Given the description of an element on the screen output the (x, y) to click on. 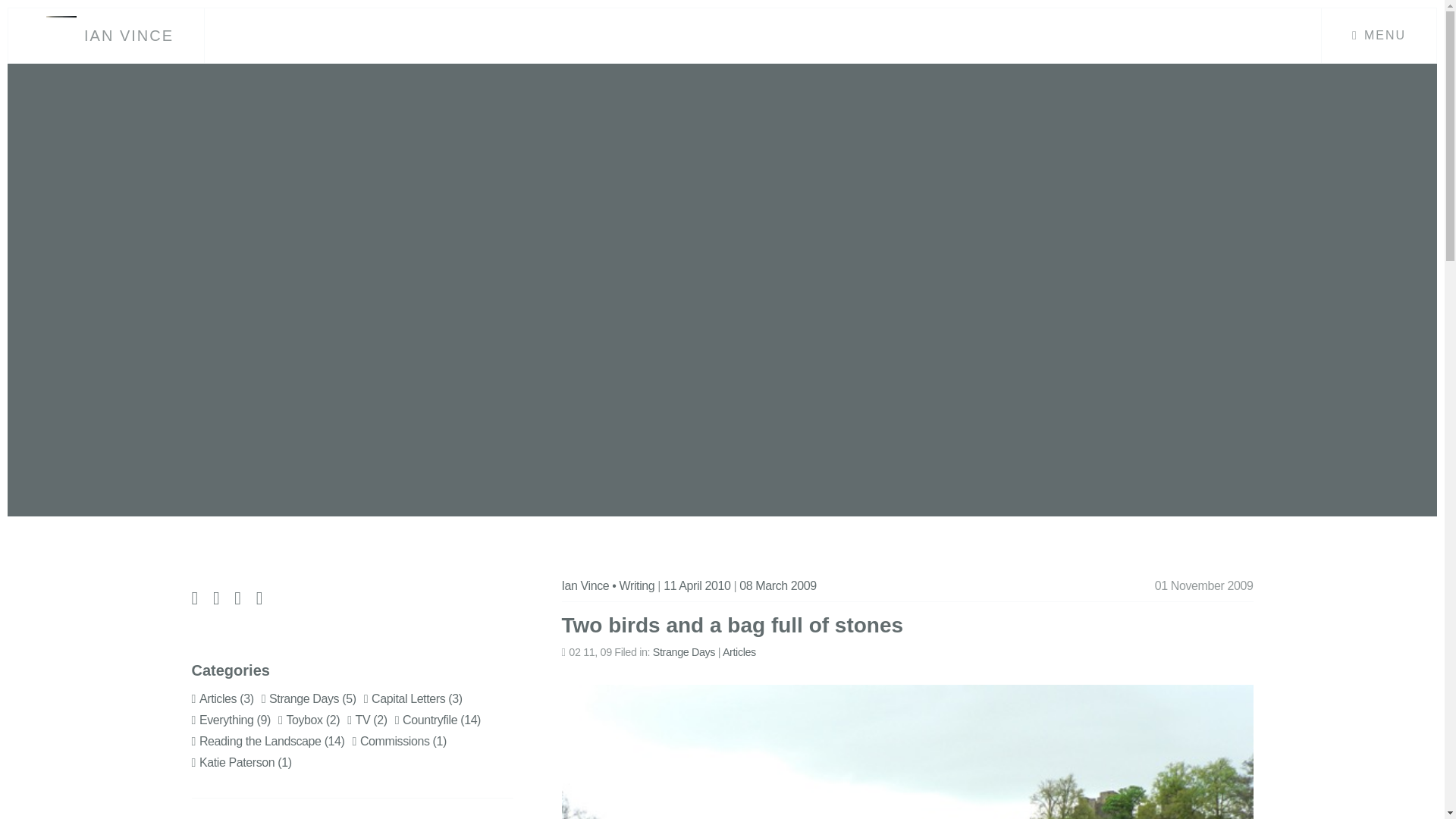
IAN VINCE (128, 35)
